Given the description of an element on the screen output the (x, y) to click on. 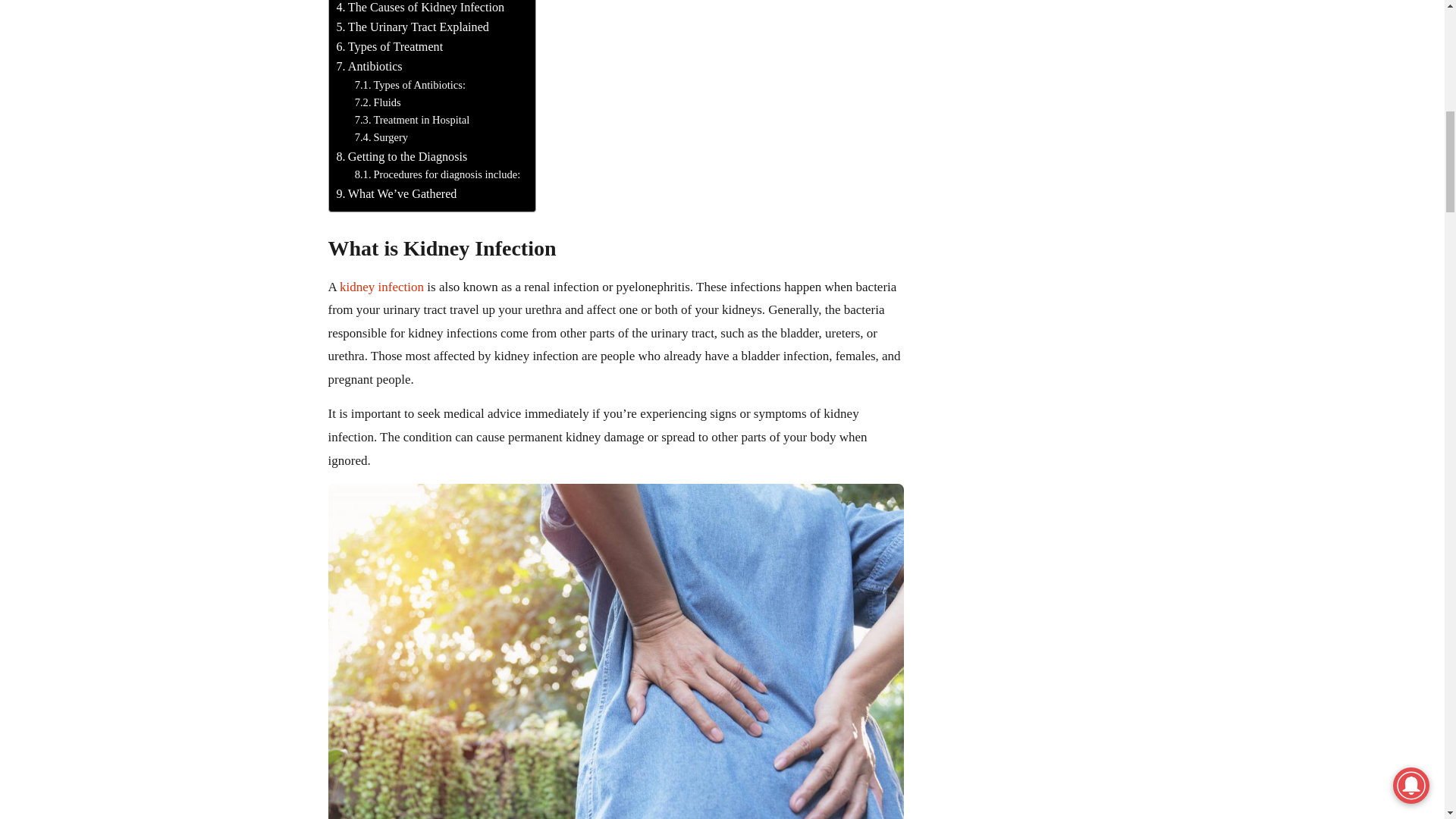
Treatment in Hospital (412, 119)
Surgery (381, 137)
The Causes of Kidney Infection (420, 8)
The Urinary Tract Explained (412, 26)
Types of Treatment (390, 46)
Antibiotics (369, 66)
Types of Antibiotics: (410, 85)
Fluids (378, 102)
